Given the description of an element on the screen output the (x, y) to click on. 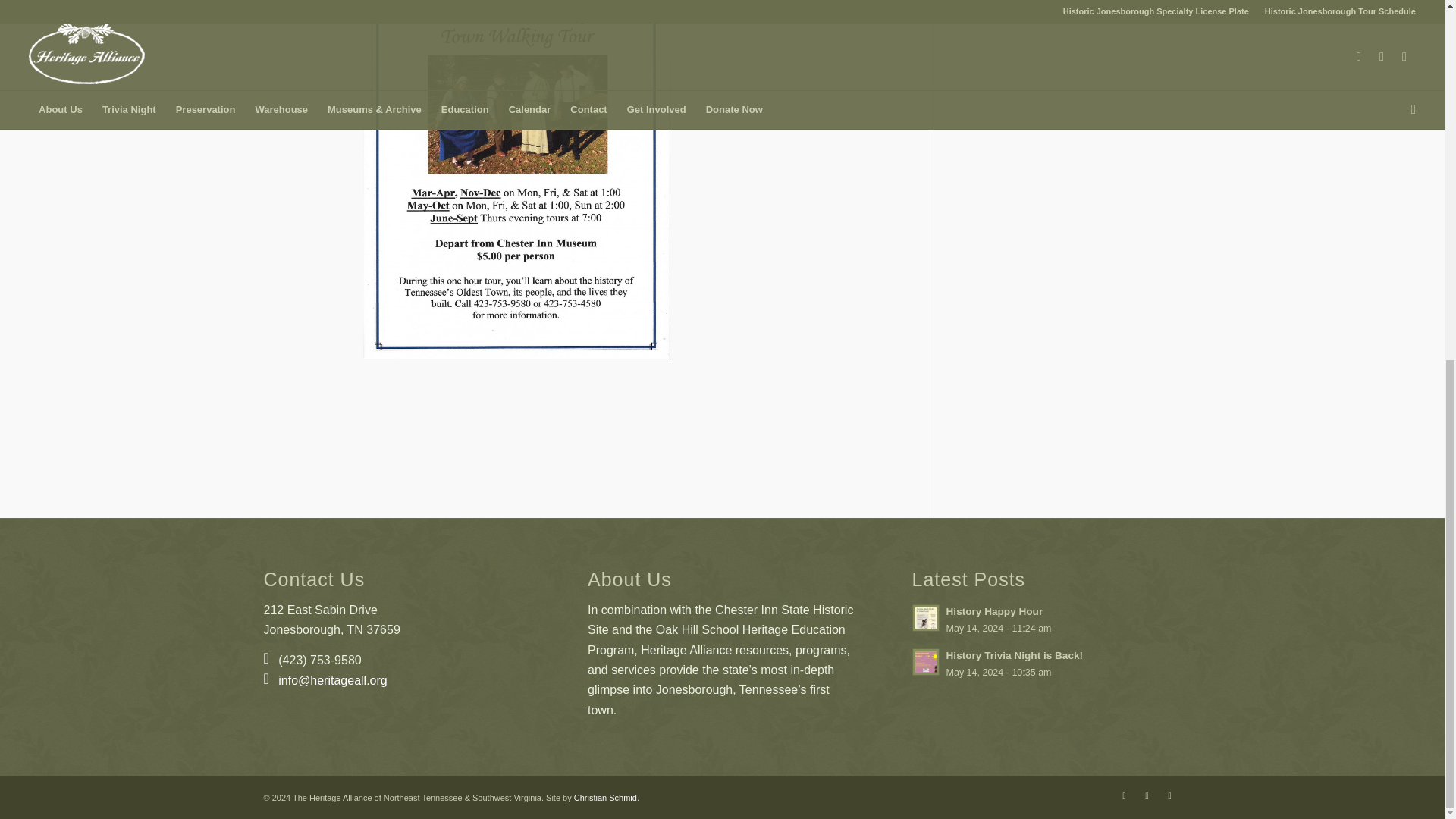
History Happy Hour (1046, 619)
